Given the description of an element on the screen output the (x, y) to click on. 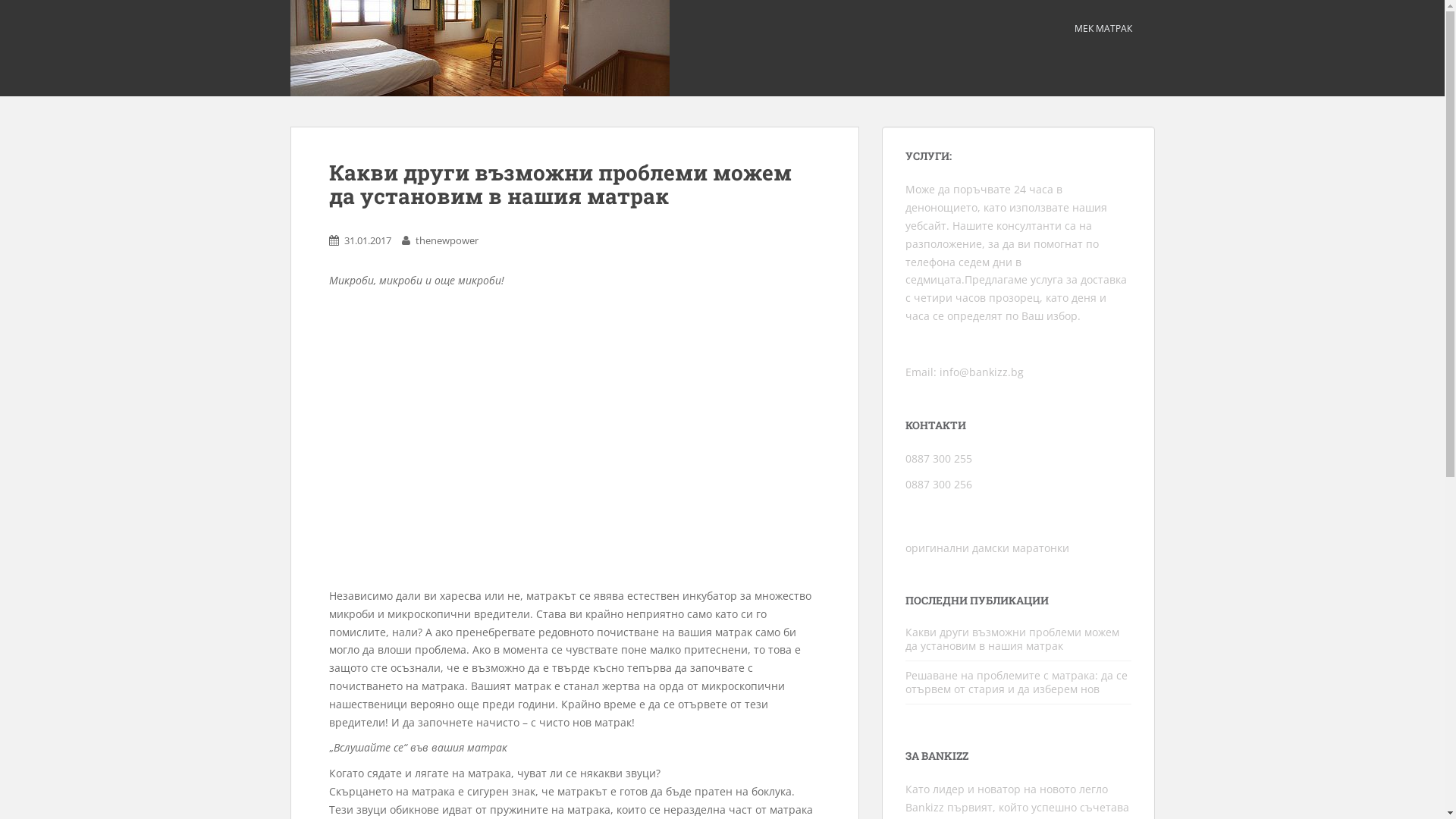
31.01.2017 Element type: text (367, 240)
thenewpower Element type: text (446, 240)
